Given the description of an element on the screen output the (x, y) to click on. 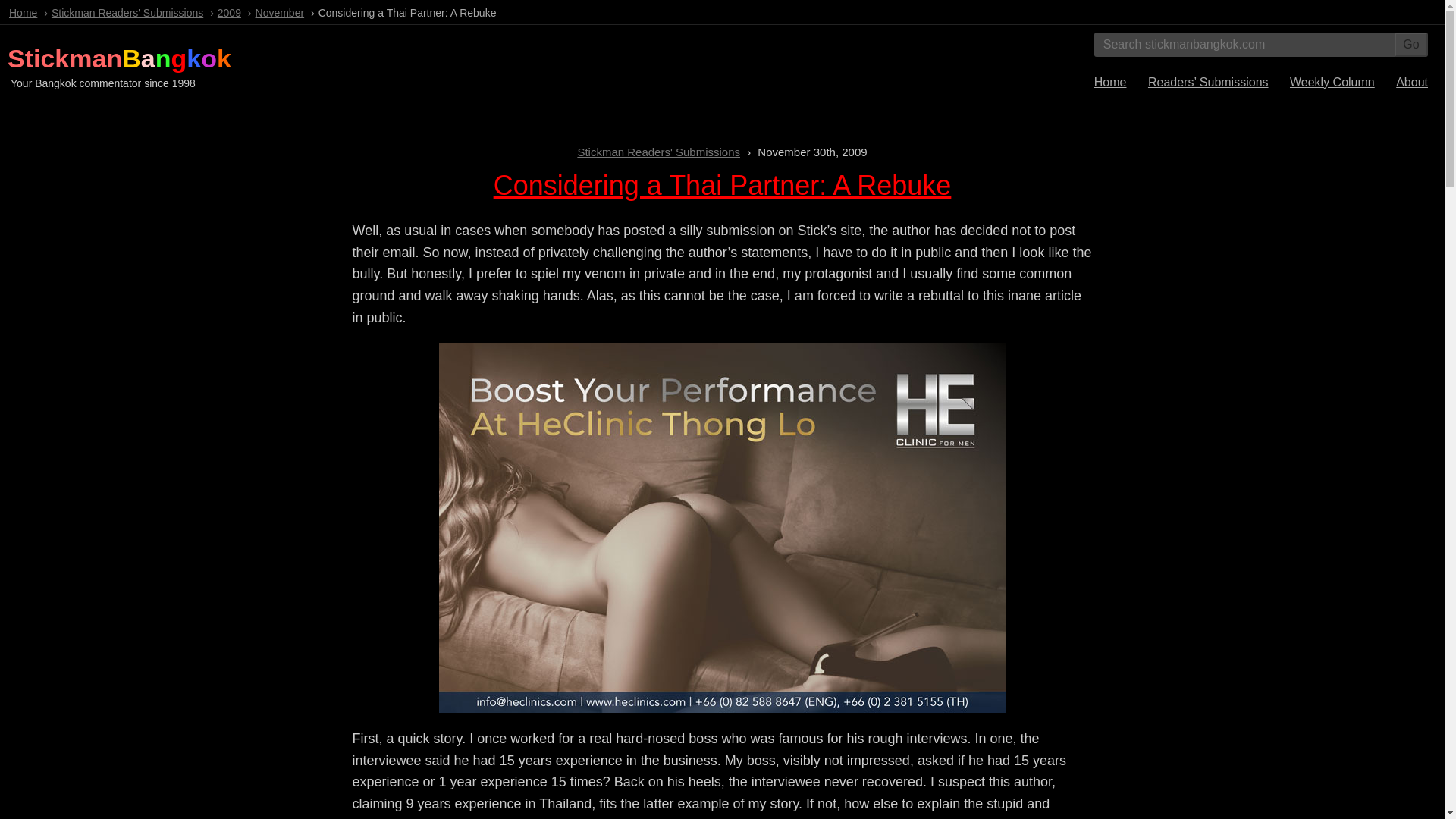
Stickman Readers' Submissions (126, 12)
Home (1109, 82)
About (1412, 82)
Go (1411, 44)
StickmanBangkok (119, 58)
November (280, 12)
Home (22, 12)
Weekly Column (1332, 82)
2009 (228, 12)
Stickman Readers' Submissions (657, 151)
